Given the description of an element on the screen output the (x, y) to click on. 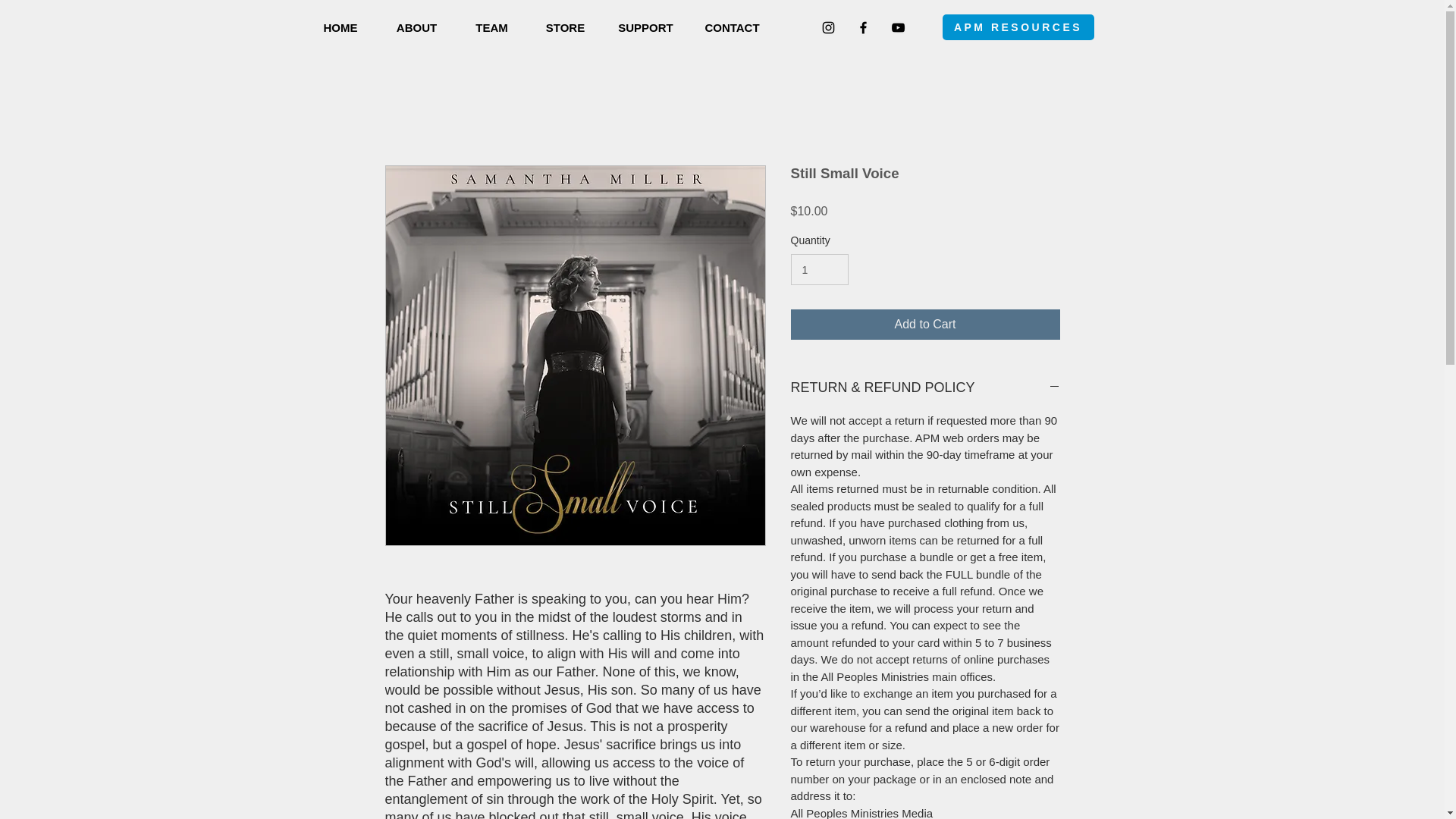
APM RESOURCES (1017, 27)
TEAM (490, 27)
SUPPORT (645, 27)
HOME (340, 27)
STORE (564, 27)
ABOUT (415, 27)
CONTACT (731, 27)
Add to Cart (924, 324)
1 (818, 269)
